Given the description of an element on the screen output the (x, y) to click on. 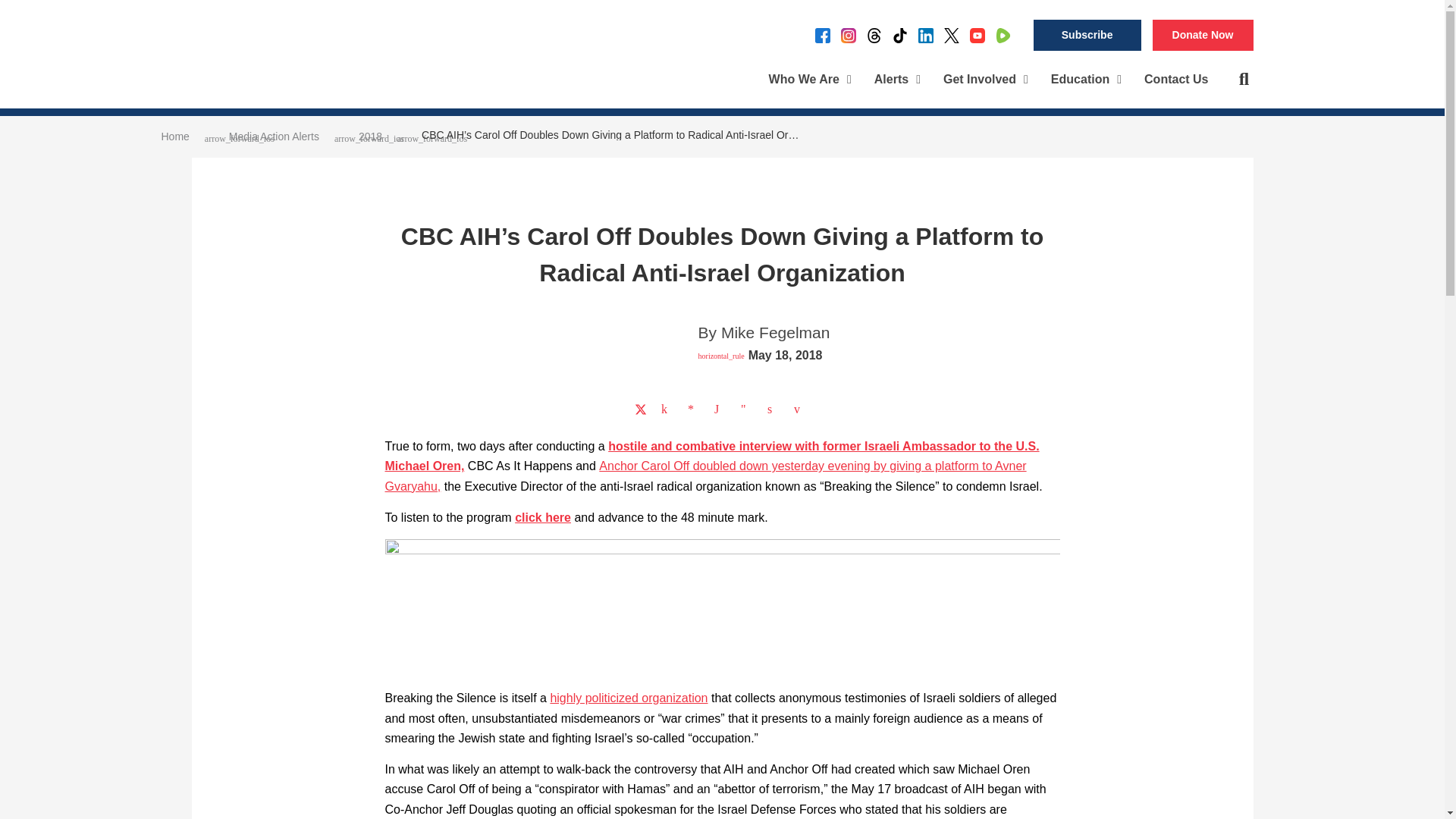
Subscribe (1087, 34)
Share on WhatsApp (720, 409)
Media Action Alerts (273, 136)
Share on Facebook Messenger (693, 409)
Contact Us (1176, 79)
Share on Print (772, 409)
Home (174, 136)
Share on Telegram (746, 409)
Share on Twitter (640, 409)
Share on Email (799, 409)
